Given the description of an element on the screen output the (x, y) to click on. 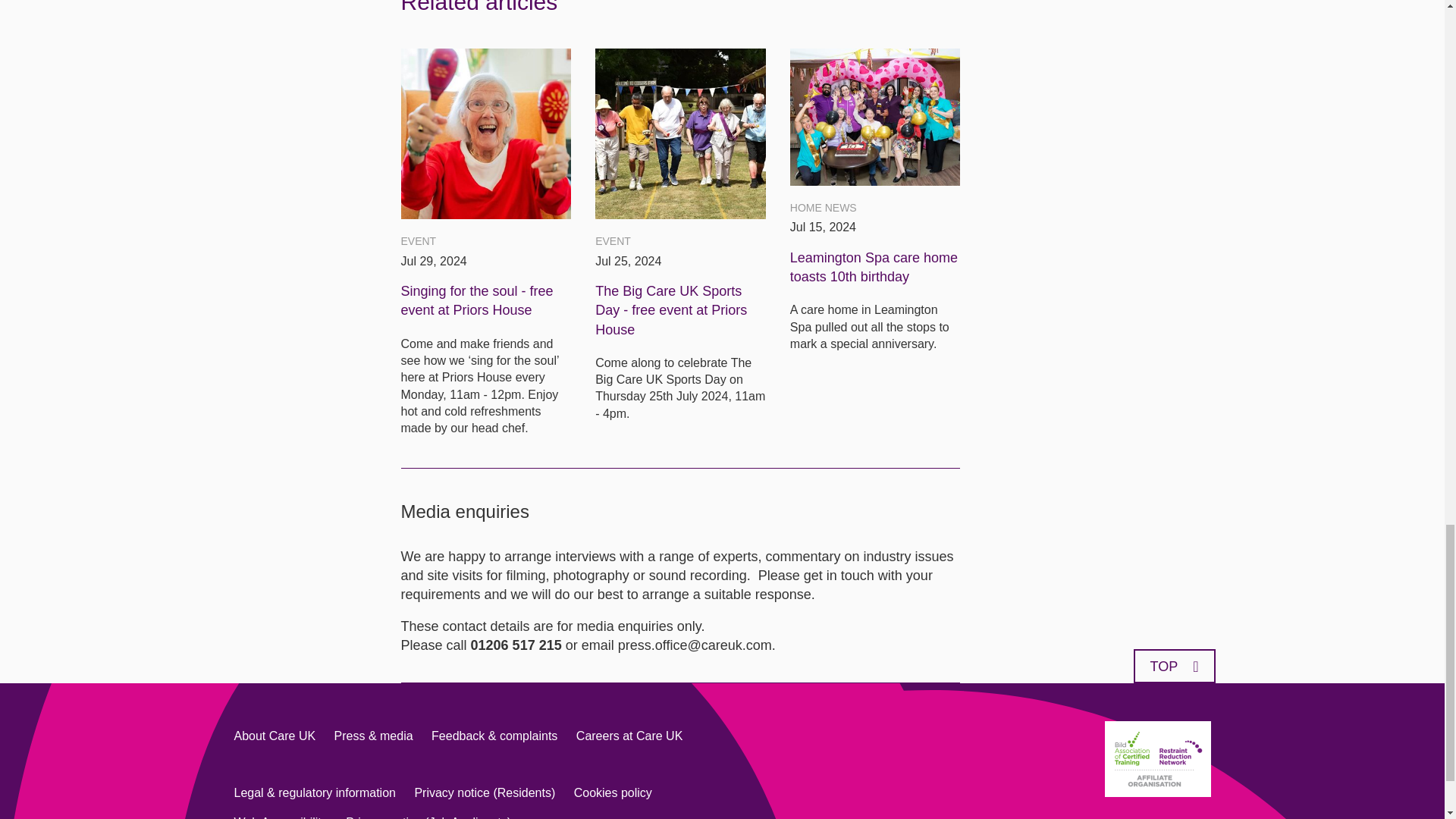
TOP (1173, 666)
